Given the description of an element on the screen output the (x, y) to click on. 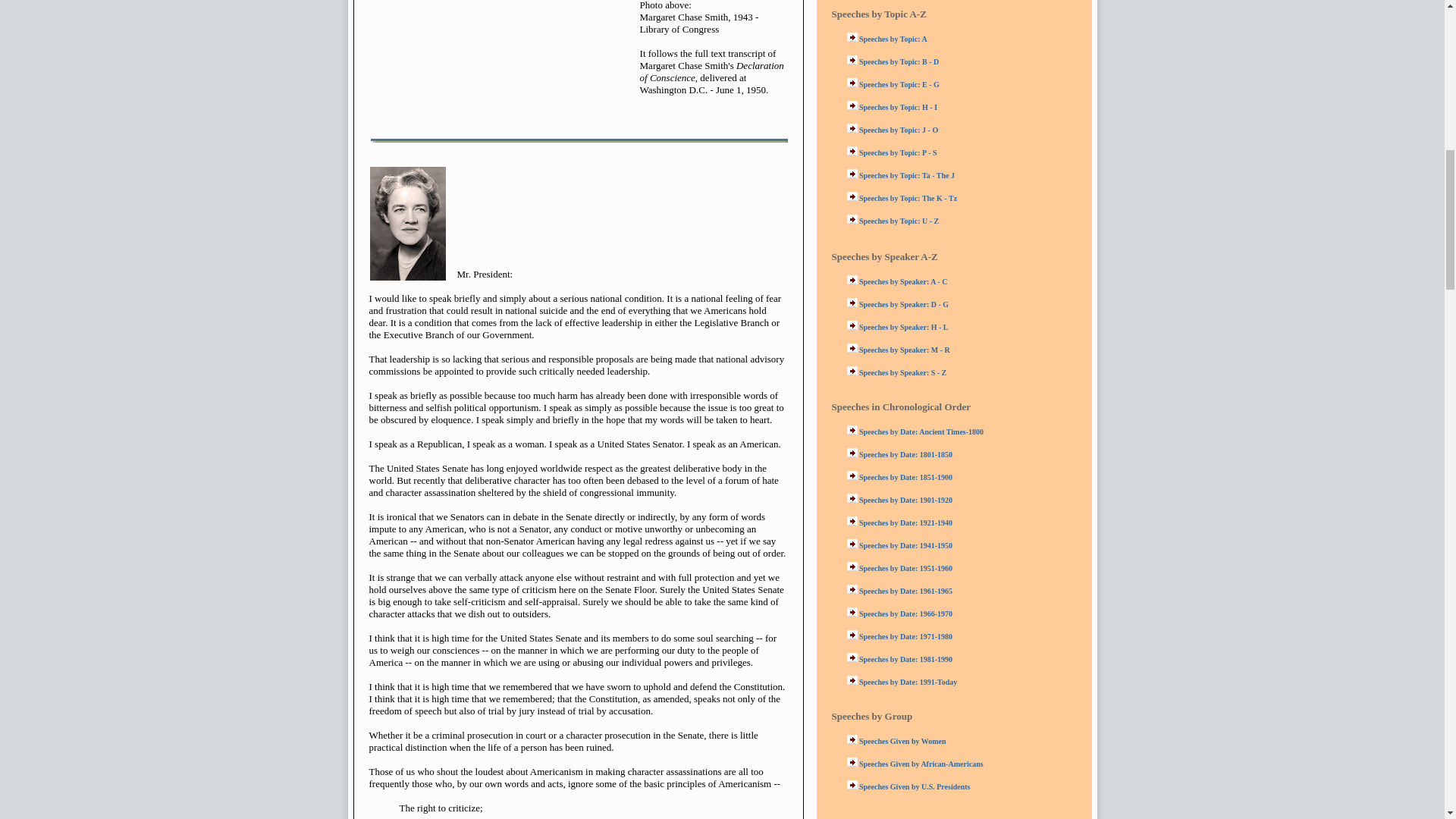
Speeches by Topic: U - Z (899, 219)
Speeches by Topic: Ta - The J (907, 173)
Speeches by Topic: H - I (898, 105)
Speeches by Topic: A (893, 37)
Speeches by Speaker A-Z (884, 256)
Speeches by Speaker: D - G (904, 302)
Speeches by Topic: The K - Tz (907, 196)
Speeches by Topic: P - S (898, 151)
Speeches by Speaker: H - L (904, 325)
Speeches by Speaker: A - C (903, 279)
Speeches by Topic A-Z (878, 13)
Speeches by Speaker: M - R (904, 348)
Speeches by Topic: B - D (899, 60)
Speeches by Topic: J - O (898, 128)
Speeches by Topic: E - G (899, 82)
